Given the description of an element on the screen output the (x, y) to click on. 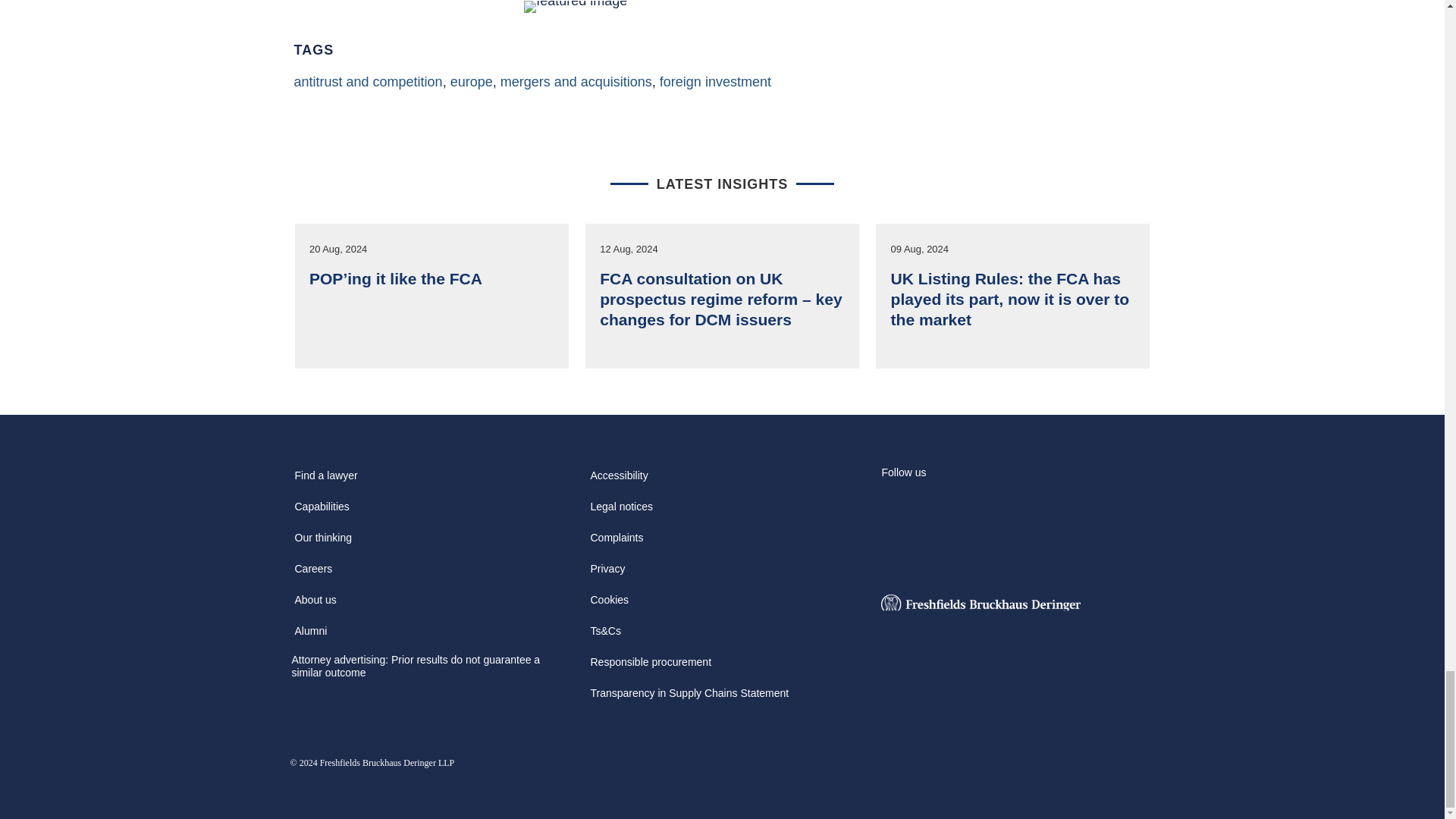
Careers (312, 573)
Complaints (616, 542)
Privacy (606, 573)
Our thinking (322, 542)
Legal notices (621, 511)
Alumni (310, 635)
About us (315, 604)
Transparency in Supply Chains Statement (689, 698)
Find a lawyer (325, 480)
Responsible procurement (650, 666)
